Given the description of an element on the screen output the (x, y) to click on. 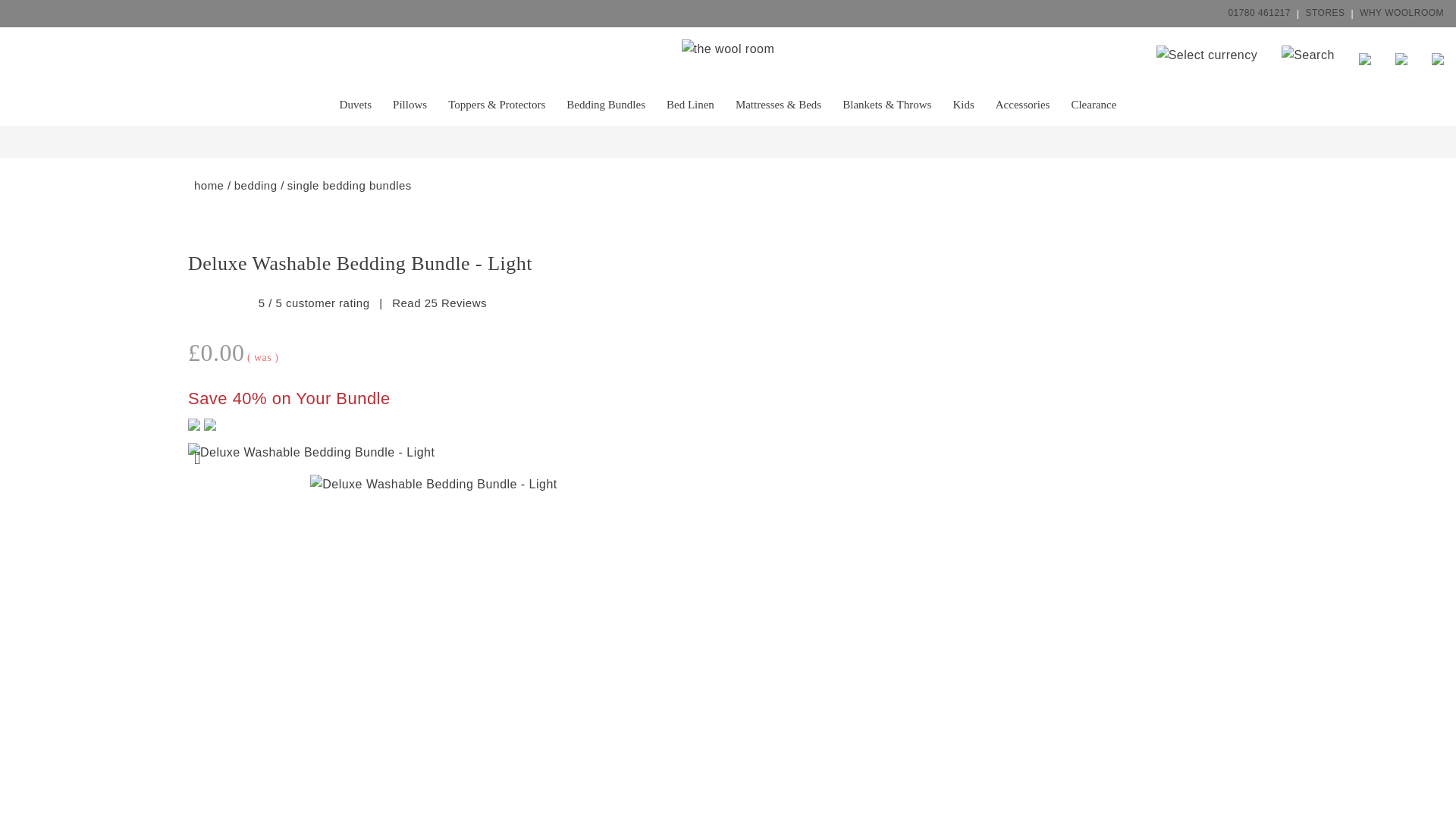
Accessories (1023, 104)
WHY WOOLROOM (1402, 12)
01780 461217 (1259, 12)
Kids (963, 104)
Bed Linen (690, 104)
home (208, 185)
STORES (1325, 12)
Clearance (1092, 104)
Bedding Bundles (606, 104)
Duvets (355, 104)
